Given the description of an element on the screen output the (x, y) to click on. 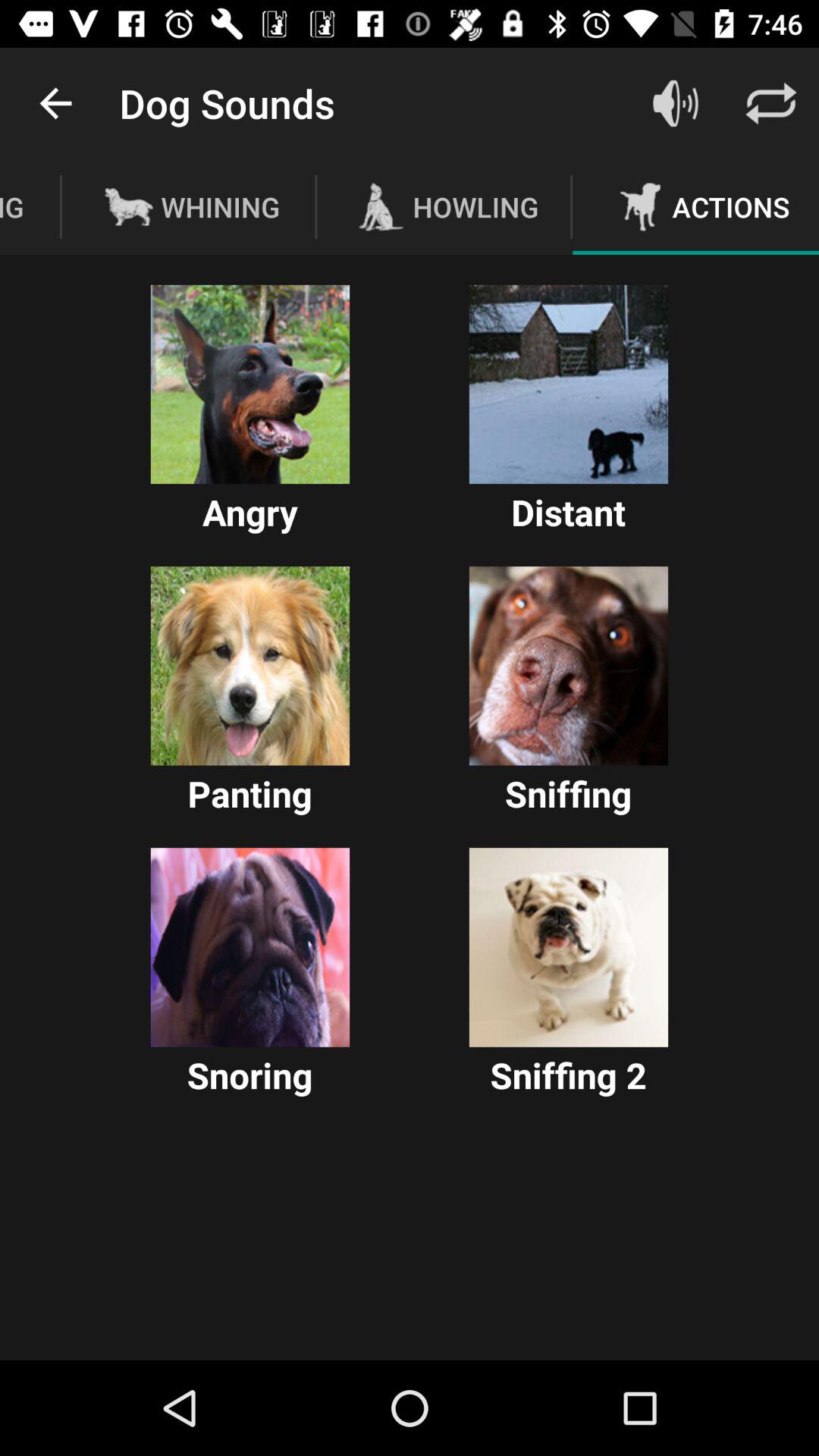
select sound (249, 665)
